Given the description of an element on the screen output the (x, y) to click on. 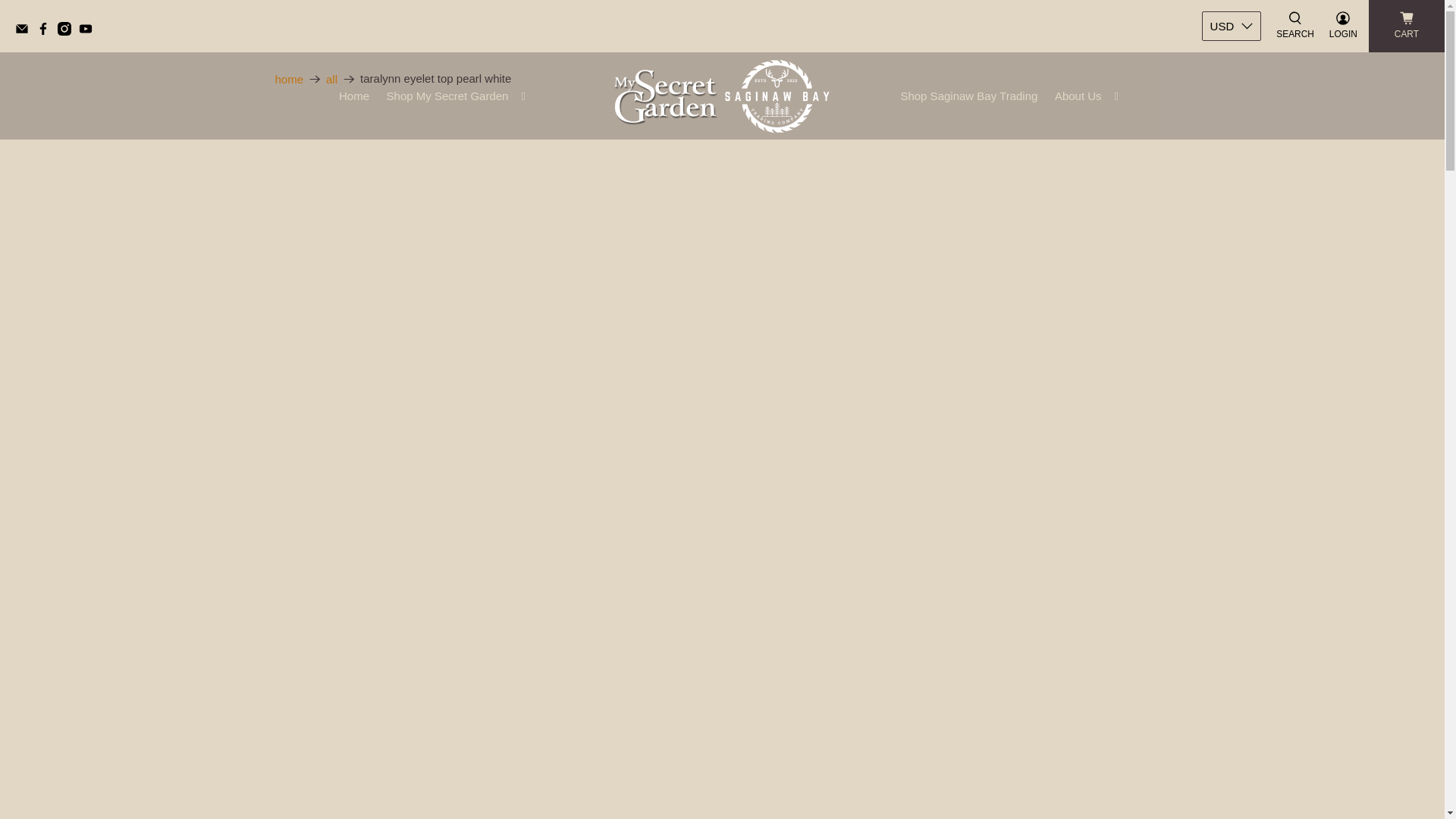
SEARCH (1295, 26)
EUR (1231, 201)
About Us (1087, 96)
My Secret Garden (288, 79)
Email My Secret Garden (25, 31)
My Secret Garden on Facebook (47, 31)
CAD (1231, 89)
USD (1232, 25)
My Secret Garden (721, 96)
Shop Saginaw Bay Trading (968, 96)
